Given the description of an element on the screen output the (x, y) to click on. 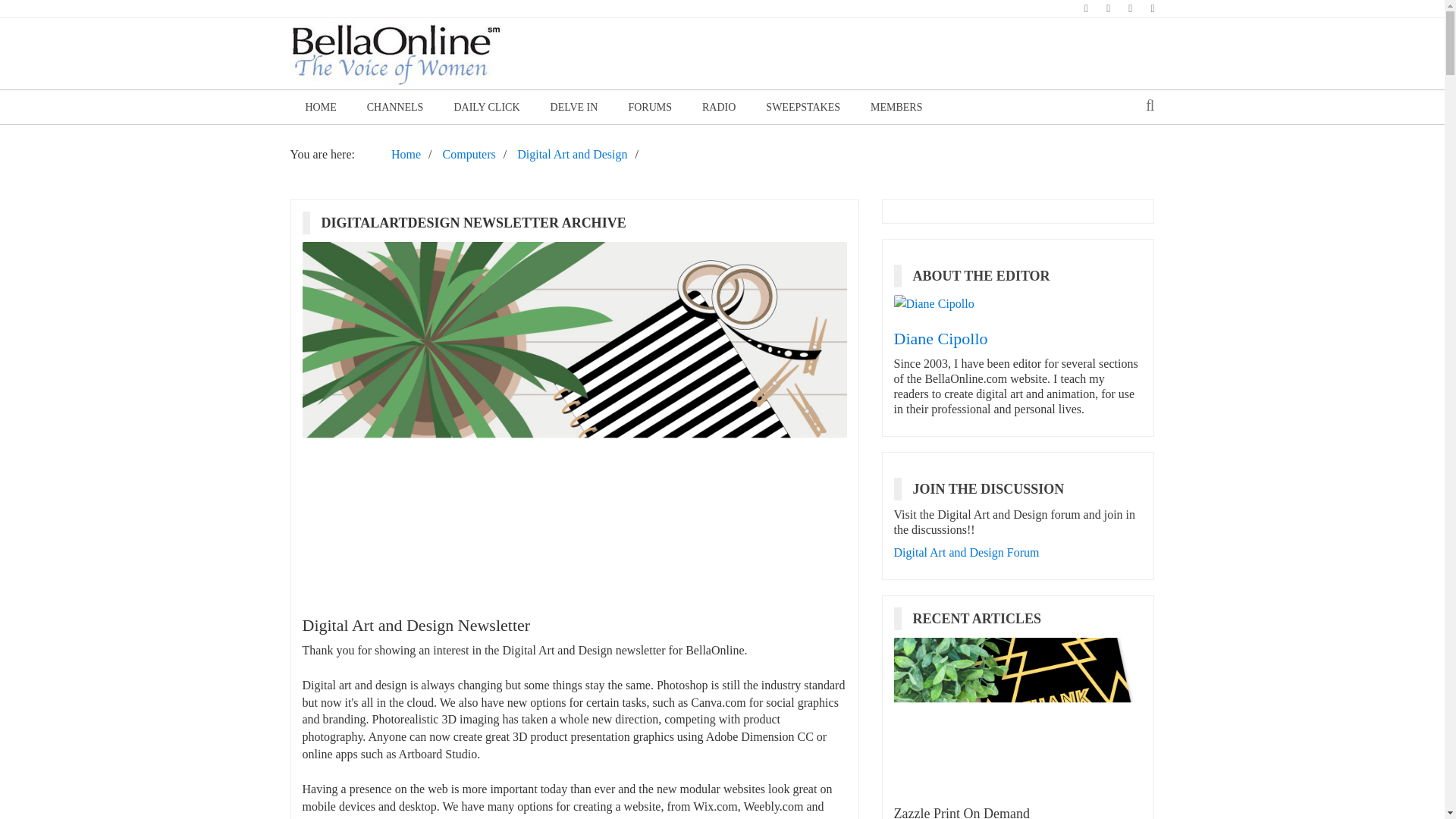
RADIO (719, 107)
DAILY CLICK (486, 107)
SWEEPSTAKES (803, 107)
CHANNELS (395, 107)
HOME (319, 107)
DELVE IN (573, 107)
FORUMS (649, 107)
